Given the description of an element on the screen output the (x, y) to click on. 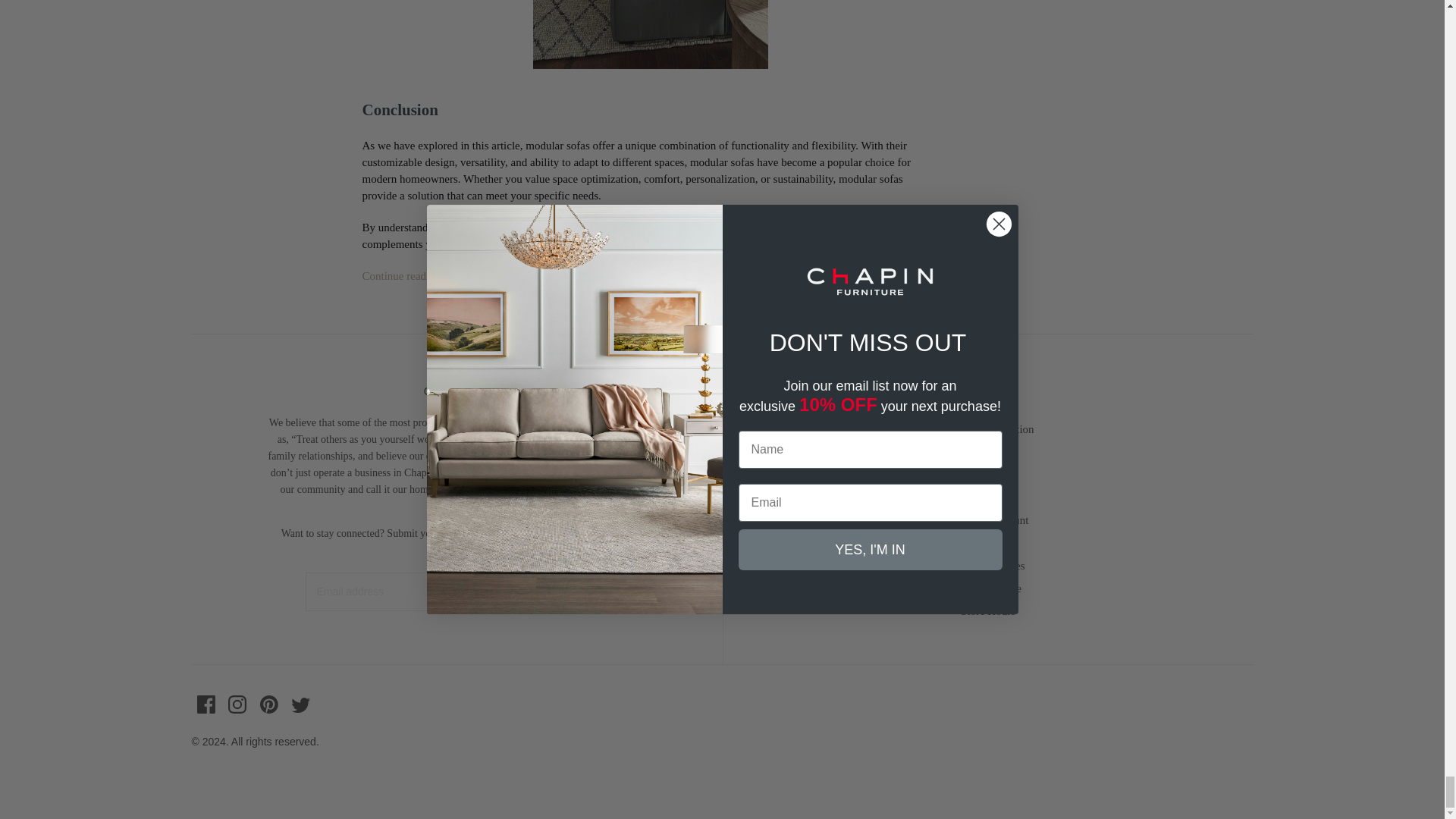
Submit (572, 591)
